Given the description of an element on the screen output the (x, y) to click on. 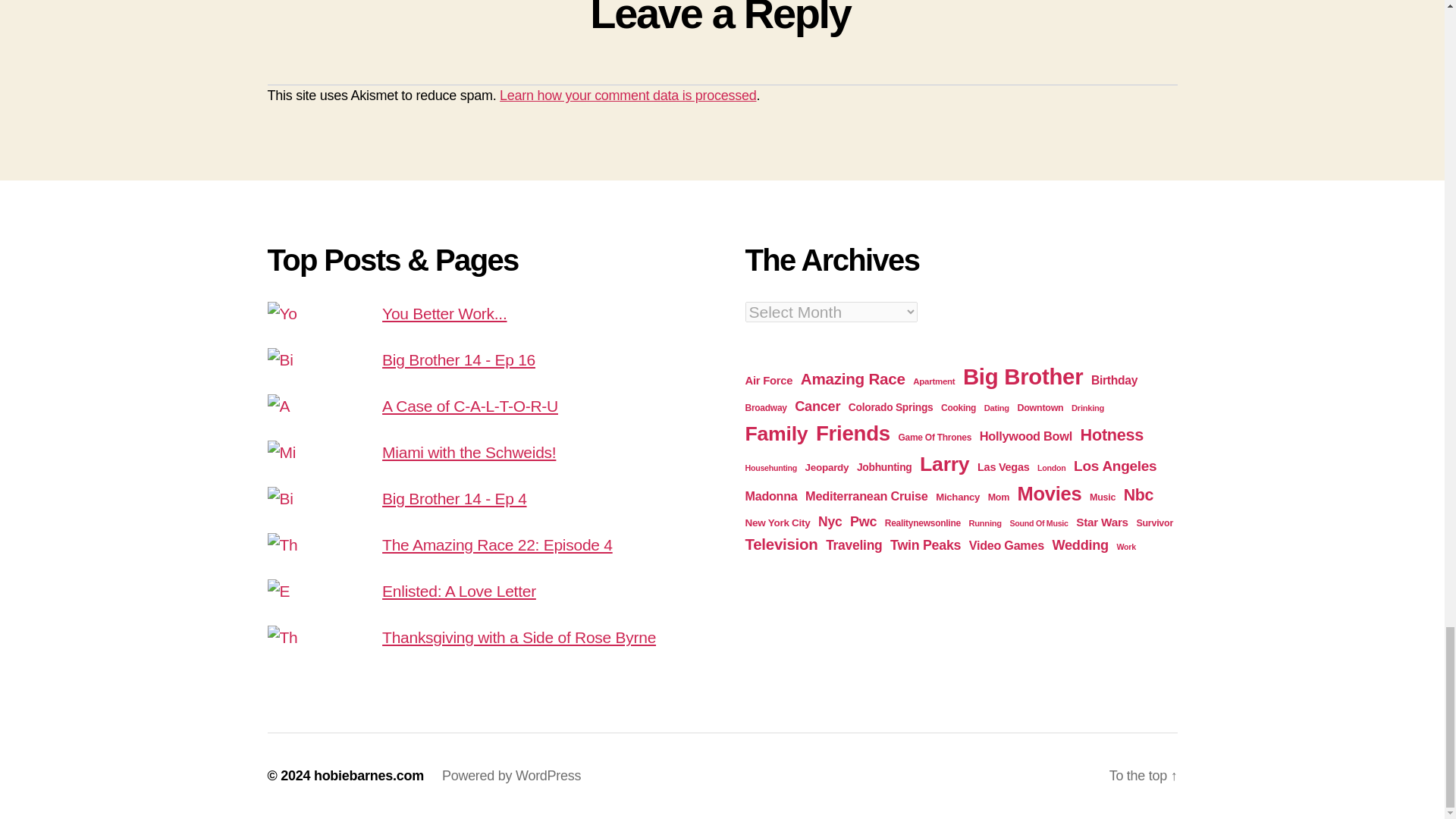
A Case of C-A-L-T-O-R-U (469, 405)
Big Brother 14 - Ep 16 (458, 359)
Miami with the Schweids! (468, 452)
You Better Work... (443, 313)
